Given the description of an element on the screen output the (x, y) to click on. 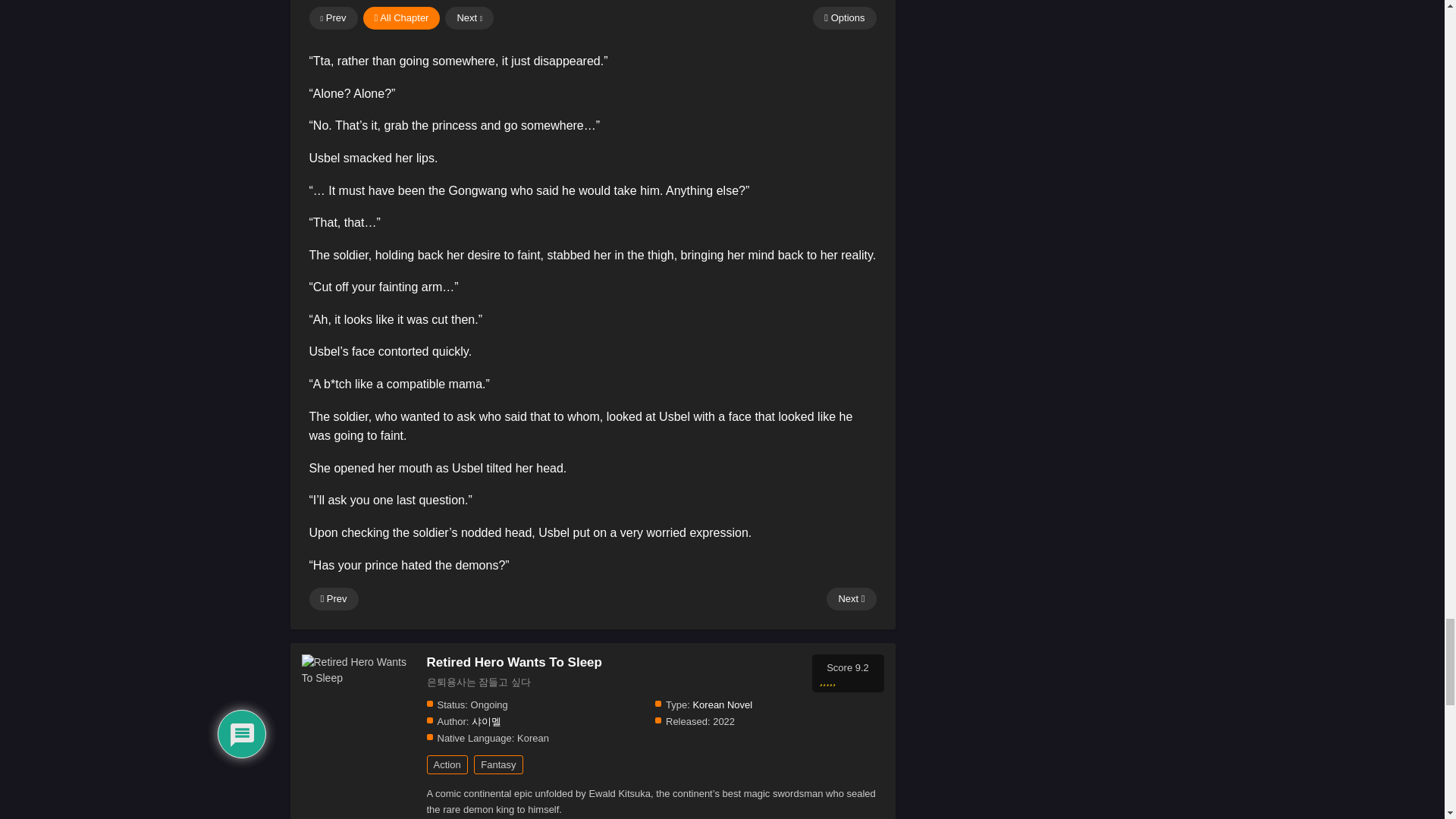
Korean Novel (722, 704)
Next (851, 599)
Prev (333, 599)
Action (446, 764)
Retired Hero Wants To Sleep (357, 670)
Fantasy (498, 764)
